Given the description of an element on the screen output the (x, y) to click on. 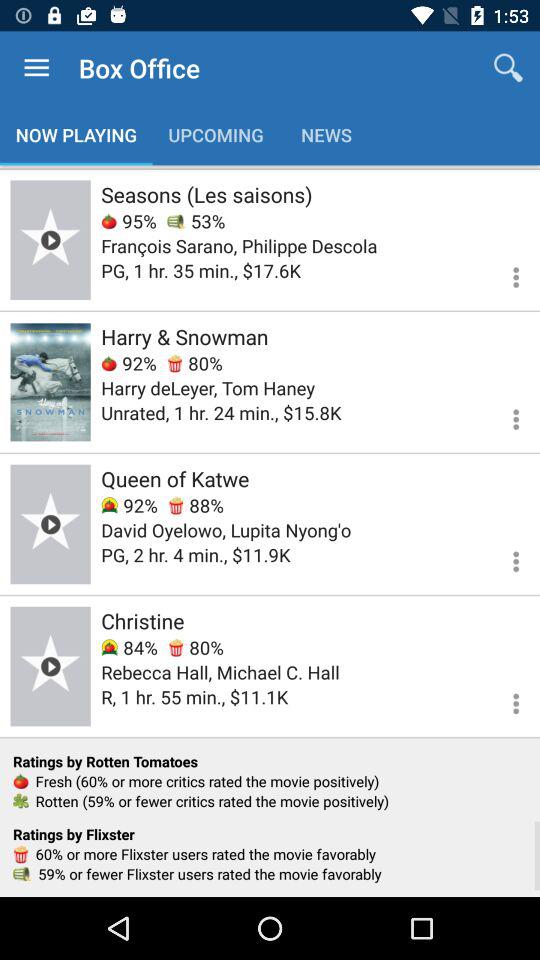
launch harry deleyer tom icon (207, 387)
